Given the description of an element on the screen output the (x, y) to click on. 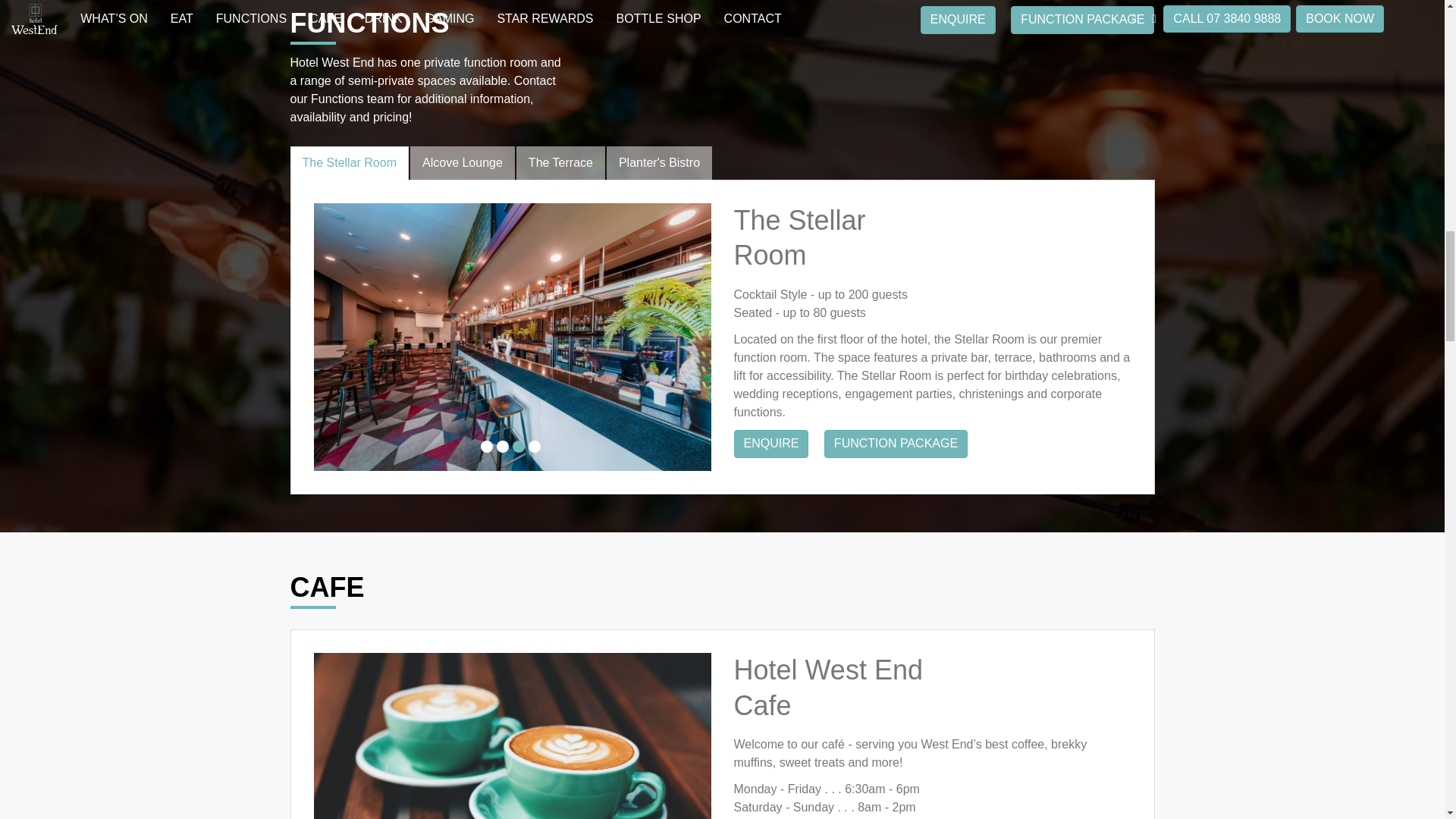
FUNCTION PACKAGE (1082, 19)
ENQUIRE (957, 19)
